Given the description of an element on the screen output the (x, y) to click on. 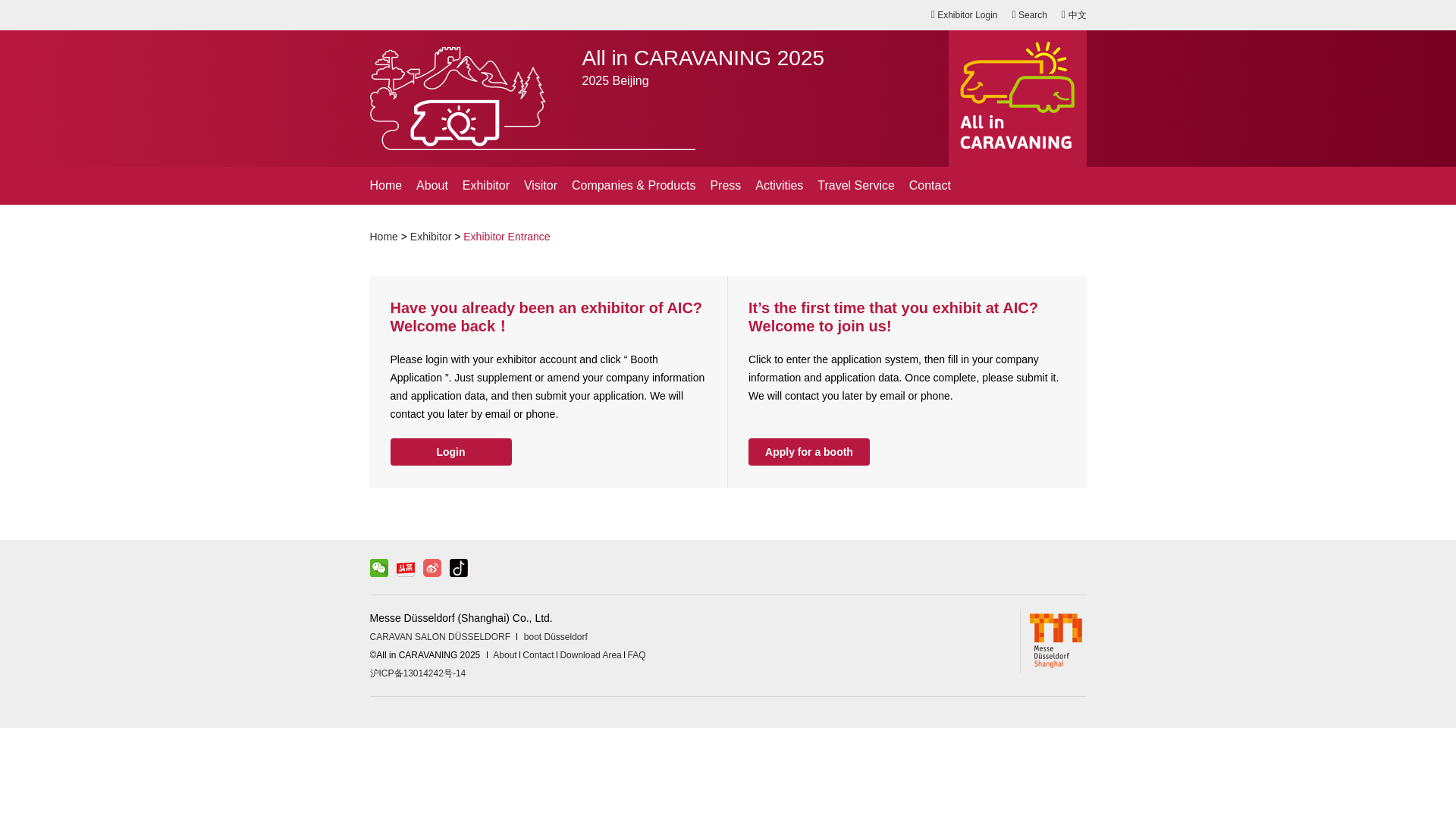
Exhibitor Login (964, 14)
Search (1029, 14)
Press (725, 185)
Home (386, 185)
Activities (779, 185)
About (432, 185)
Exhibitor (486, 185)
Travel Service (855, 185)
Visitor (540, 185)
